Given the description of an element on the screen output the (x, y) to click on. 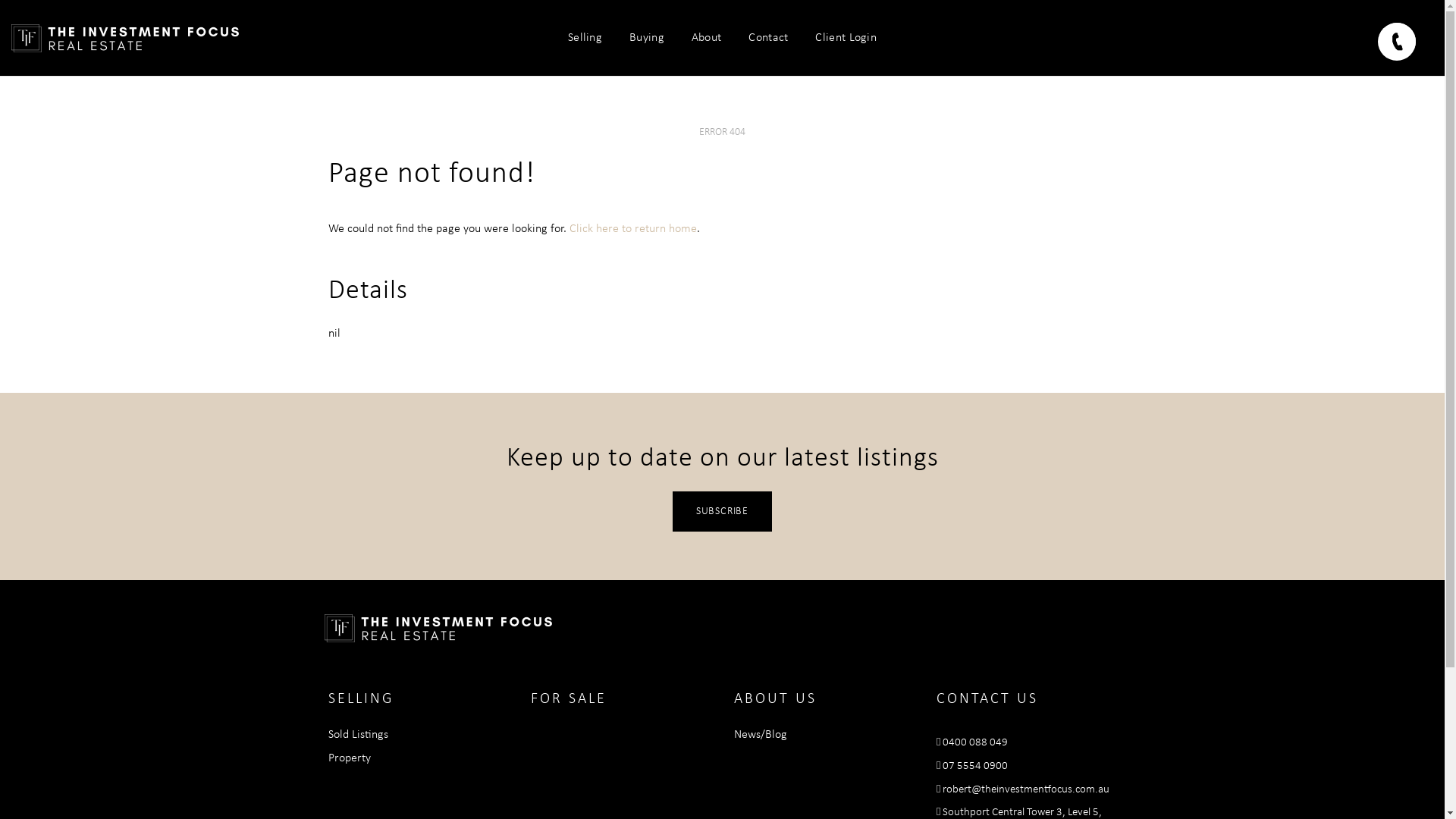
robert@theinvestmentfocus.com.au Element type: text (1025, 789)
Property Element type: text (348, 758)
Contact Element type: text (767, 37)
Client Login Element type: text (845, 37)
About Element type: text (706, 37)
SUBSCRIBE Element type: text (721, 511)
Selling Element type: text (584, 37)
ABOUT US Element type: text (775, 698)
FOR SALE Element type: text (568, 698)
0400 088 049 Element type: text (974, 742)
07 5554 0900 Element type: text (974, 765)
News/Blog Element type: text (760, 734)
Click here to return home Element type: text (632, 228)
CONTACT US Element type: text (987, 698)
Buying Element type: text (646, 37)
SELLING Element type: text (360, 698)
Sold Listings Element type: text (357, 734)
